Given the description of an element on the screen output the (x, y) to click on. 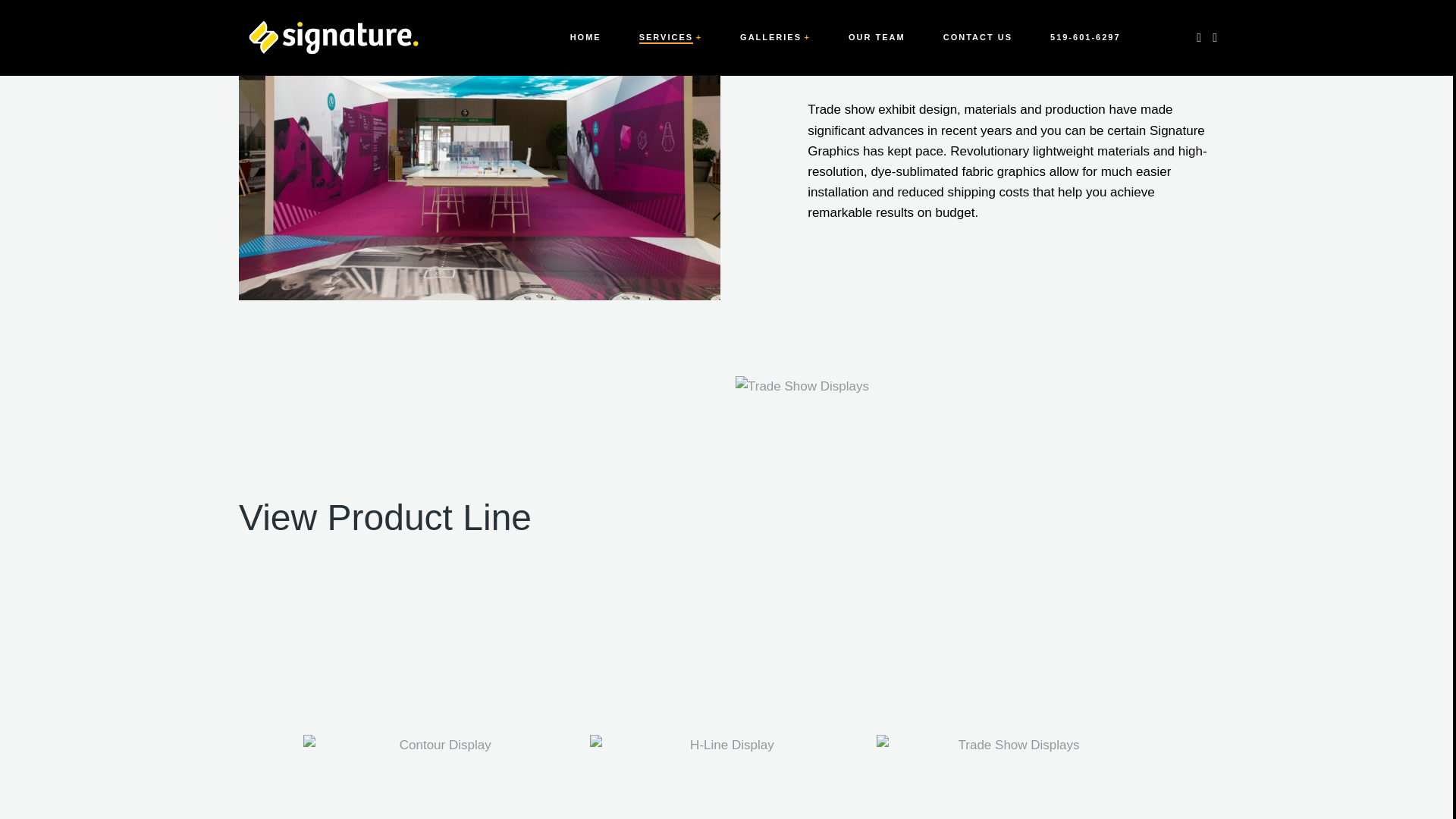
Trade Show Displays (1012, 776)
Trade Show Displays (438, 776)
Trade Show Displays (725, 776)
